Given the description of an element on the screen output the (x, y) to click on. 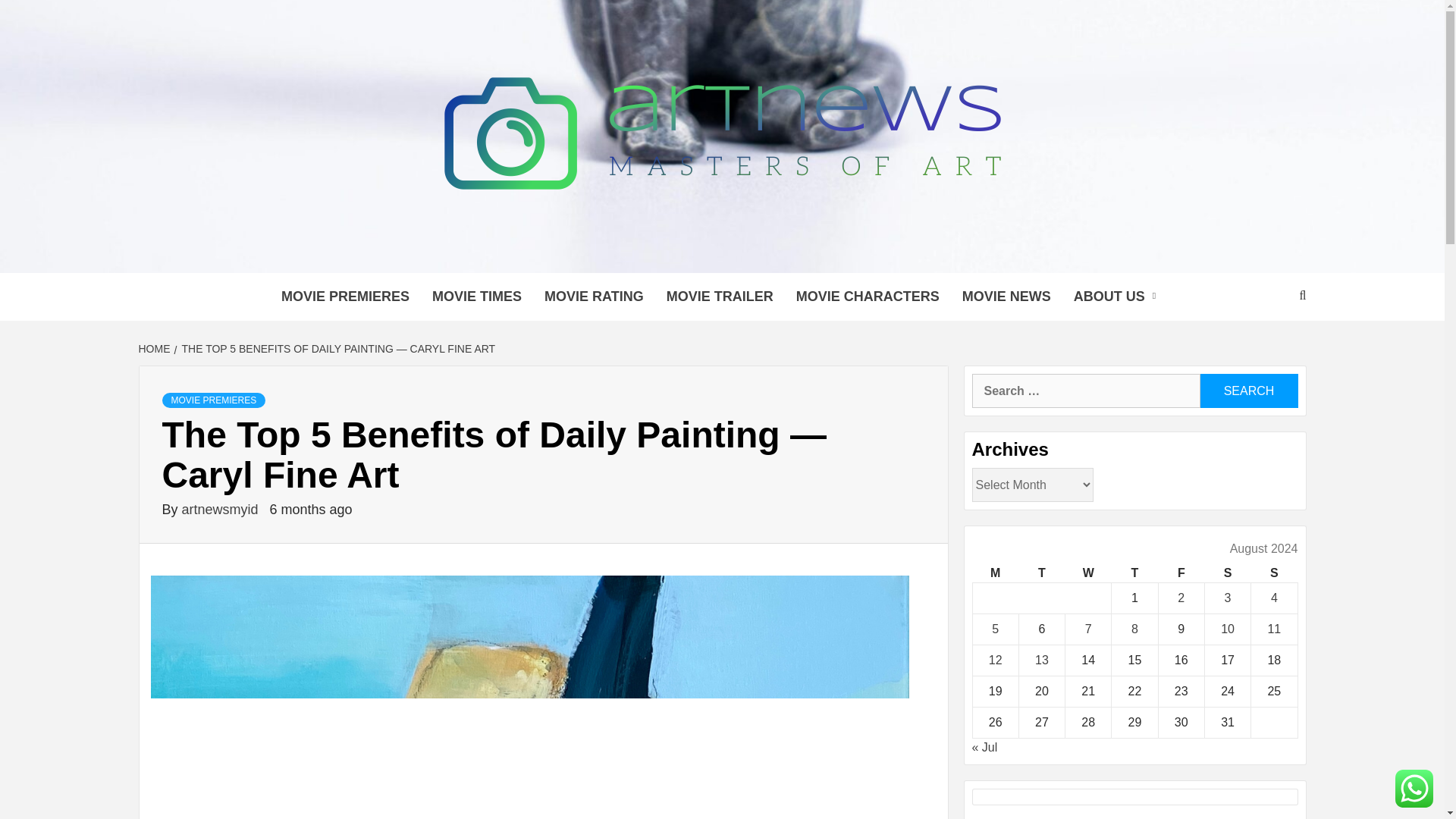
Friday (1180, 573)
Monday (994, 573)
Tuesday (1040, 573)
ABOUT US (1118, 296)
Saturday (1227, 573)
MOVIE CHARACTERS (867, 296)
Search (1248, 390)
MOVIE PREMIERES (344, 296)
artnewsmyid (222, 509)
Sunday (1273, 573)
